Given the description of an element on the screen output the (x, y) to click on. 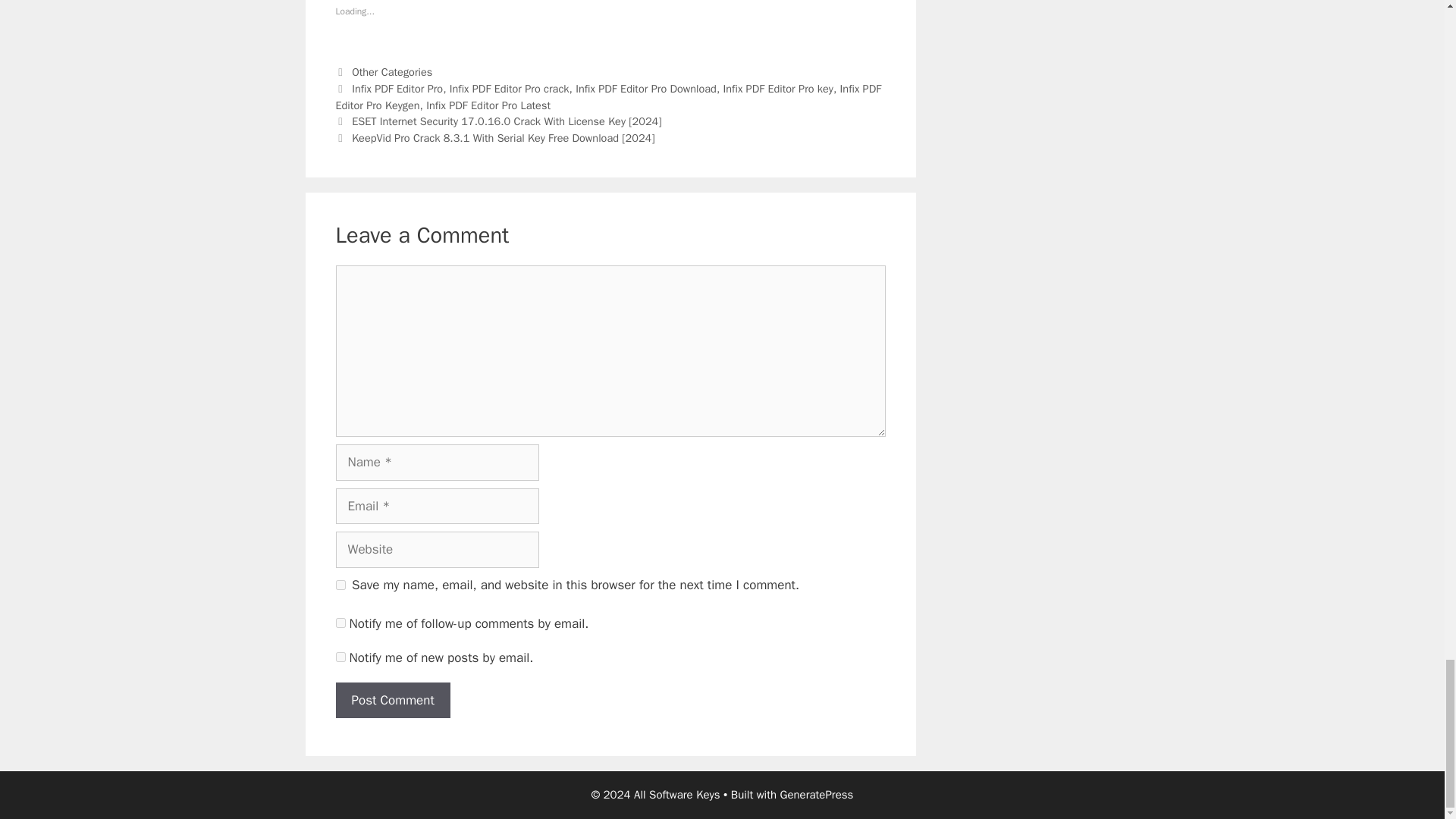
yes (339, 584)
Post Comment (391, 700)
subscribe (339, 656)
Other Categories (392, 71)
subscribe (339, 623)
